Given the description of an element on the screen output the (x, y) to click on. 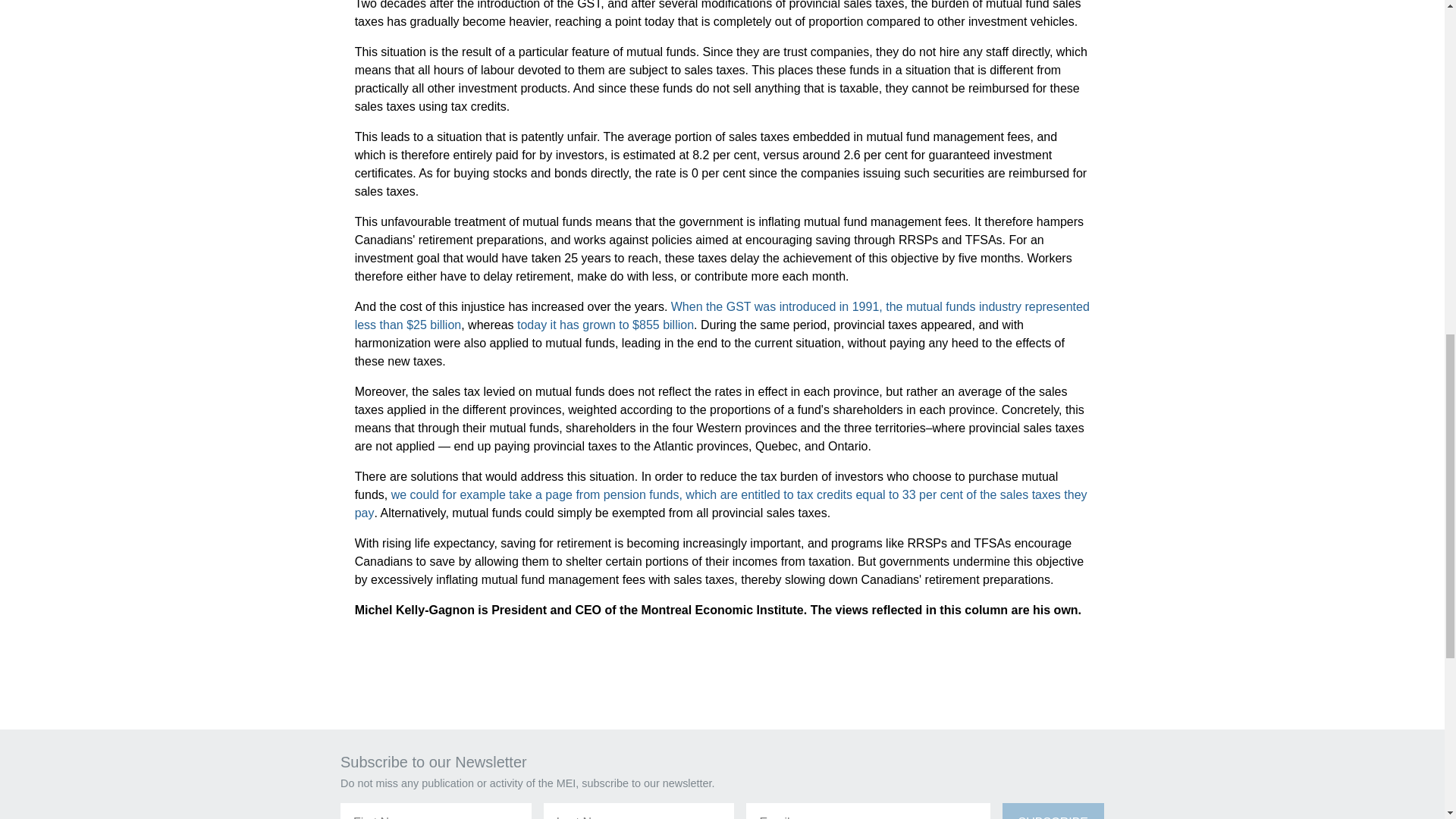
Subscribe (1053, 811)
